Given the description of an element on the screen output the (x, y) to click on. 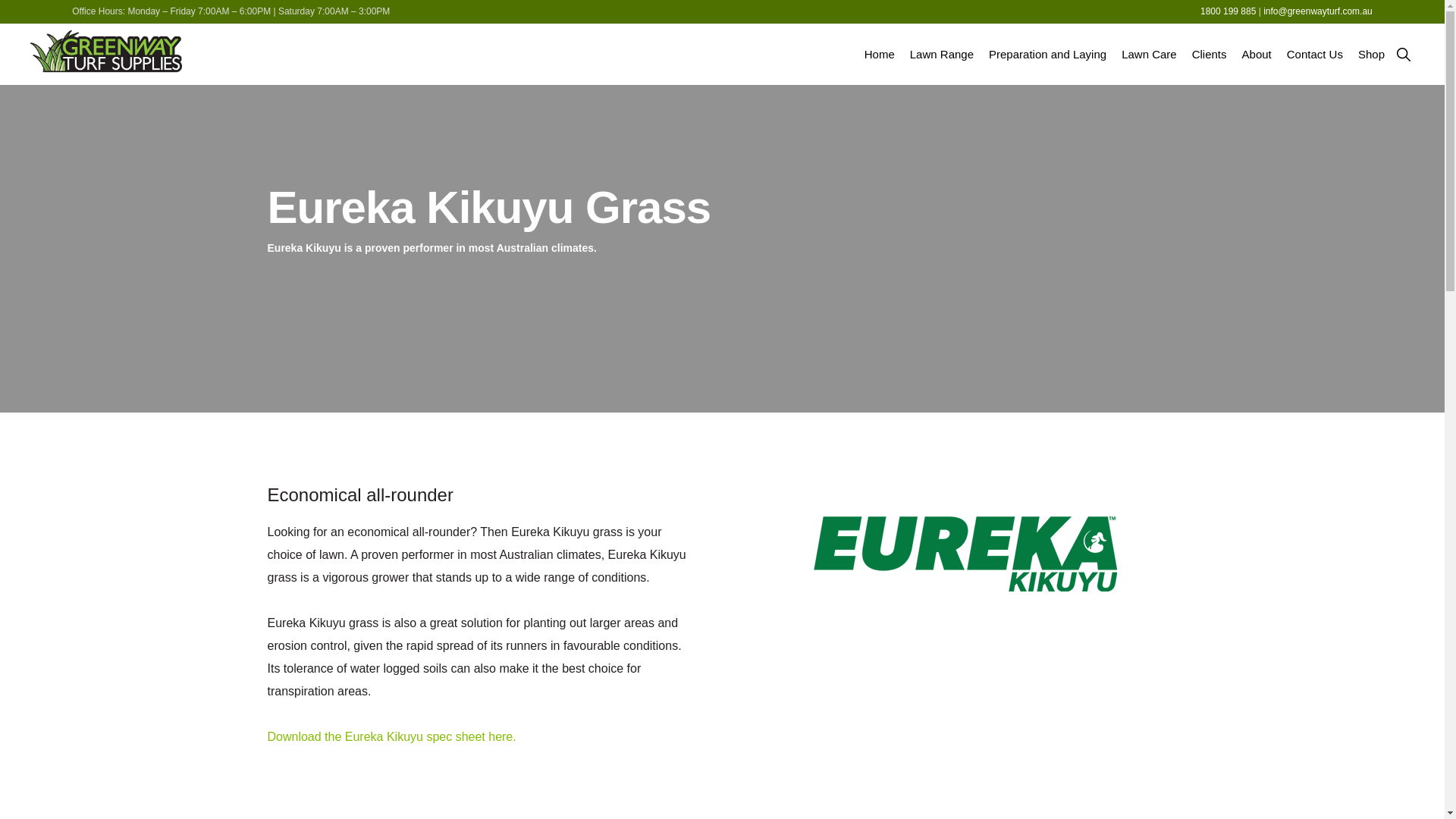
Skip to primary navigation Element type: text (0, 0)
About Element type: text (1256, 54)
Contact Us Element type: text (1314, 54)
Lawn Care Element type: text (1148, 54)
Home Element type: text (879, 54)
Clients Element type: text (1209, 54)
1800 199 885 Element type: text (1227, 11)
Preparation and Laying Element type: text (1047, 54)
Shop Element type: text (1371, 54)
Download the Eureka Kikuyu spec sheet here. Element type: text (390, 736)
info@greenwayturf.com.au Element type: text (1317, 11)
Show Search Element type: text (1403, 54)
Lawn Range Element type: text (941, 54)
